Given the description of an element on the screen output the (x, y) to click on. 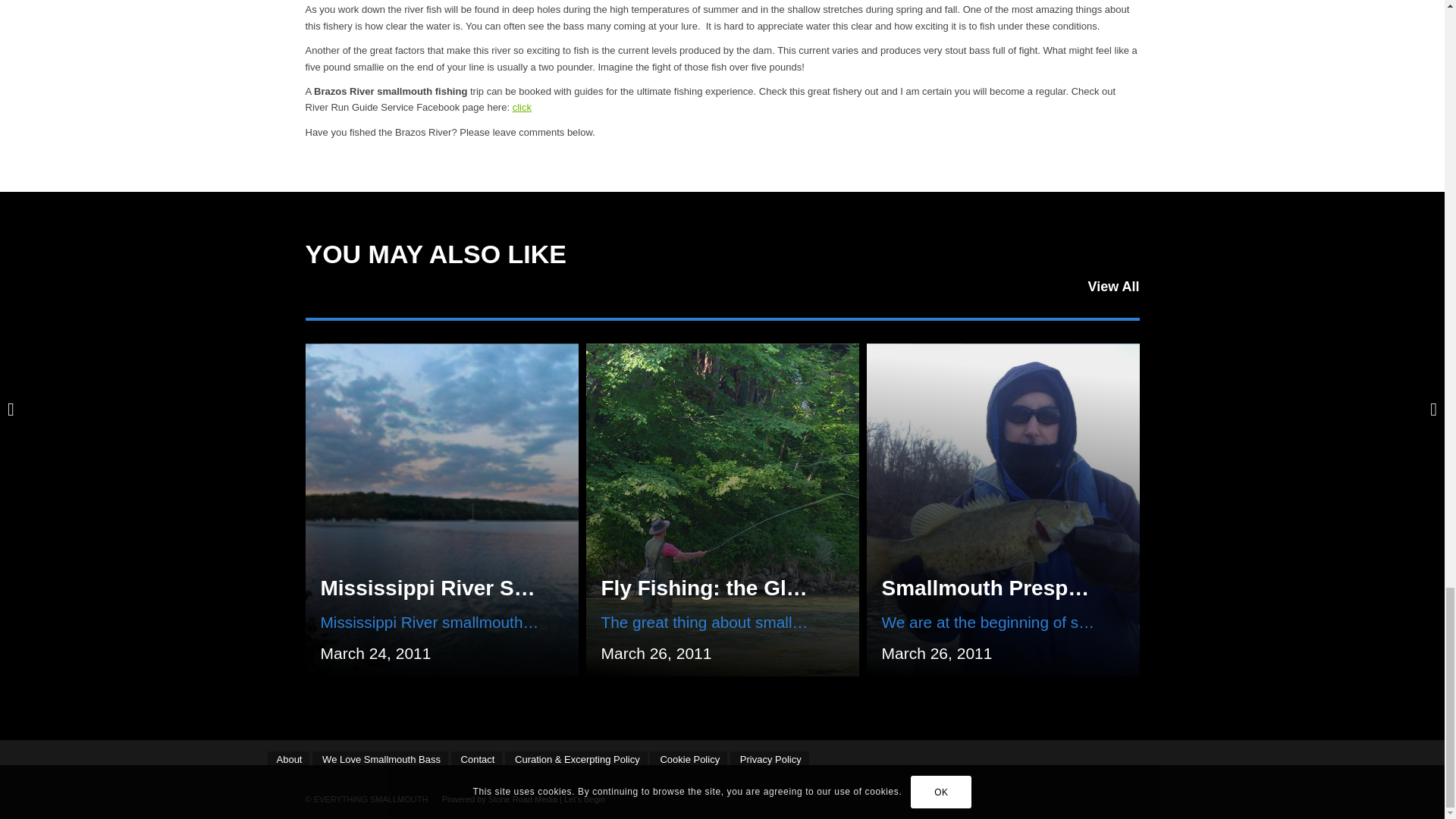
Smallmouth Prespawn River Fishing (1064, 587)
Mississippi River Smallmouth Bass Fishing (539, 587)
Cookie Policy (687, 759)
Contact (476, 759)
Fly Fishing: the Glover River Smallmouth (807, 587)
View All (1112, 286)
About (287, 759)
click (521, 107)
We Love Smallmouth Bass (380, 759)
Privacy Policy (769, 759)
